Given the description of an element on the screen output the (x, y) to click on. 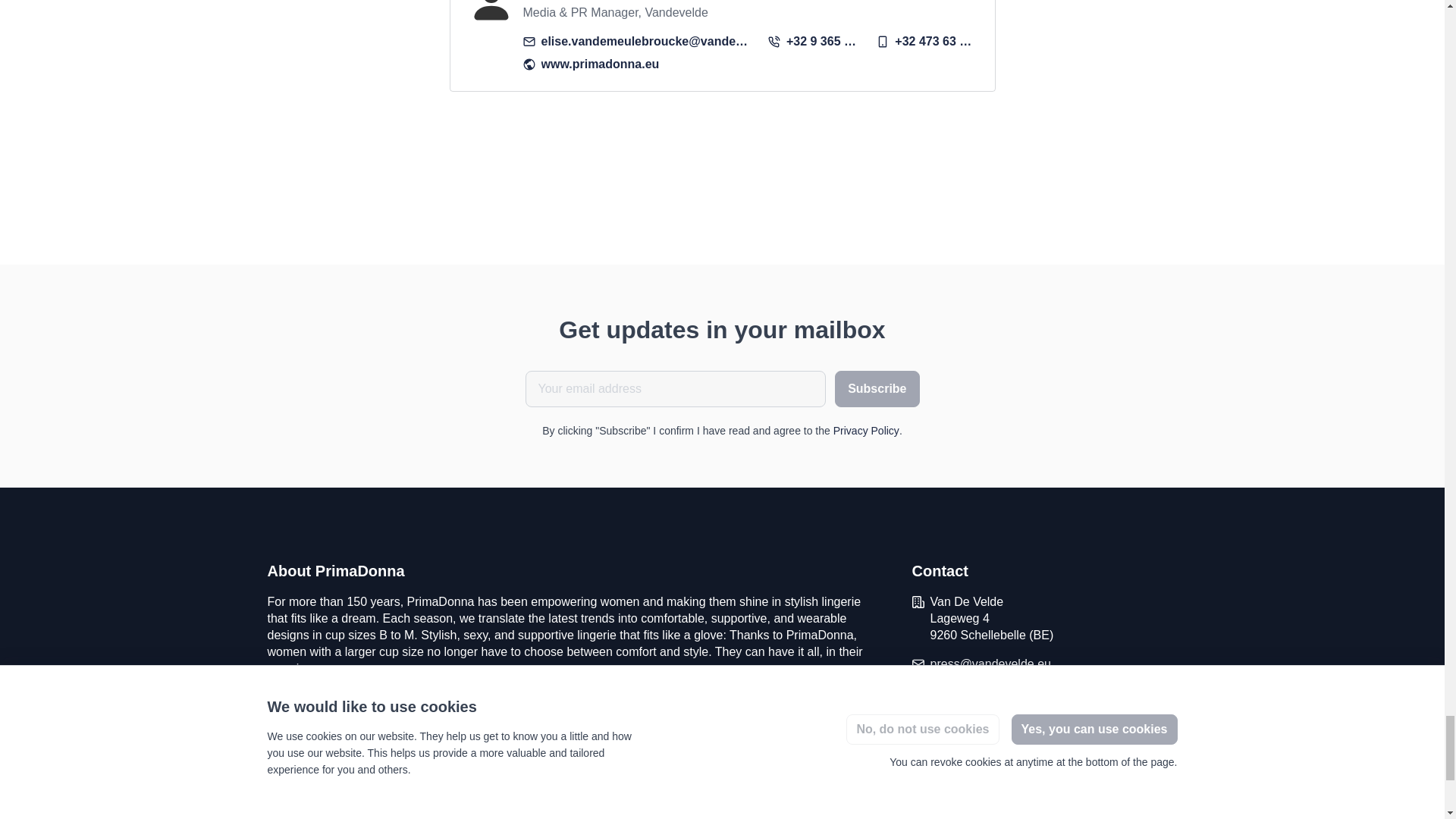
Privacy Policy (865, 430)
www.primadonna.com (989, 692)
www.primadonna.eu (590, 64)
Subscribe (876, 389)
